Given the description of an element on the screen output the (x, y) to click on. 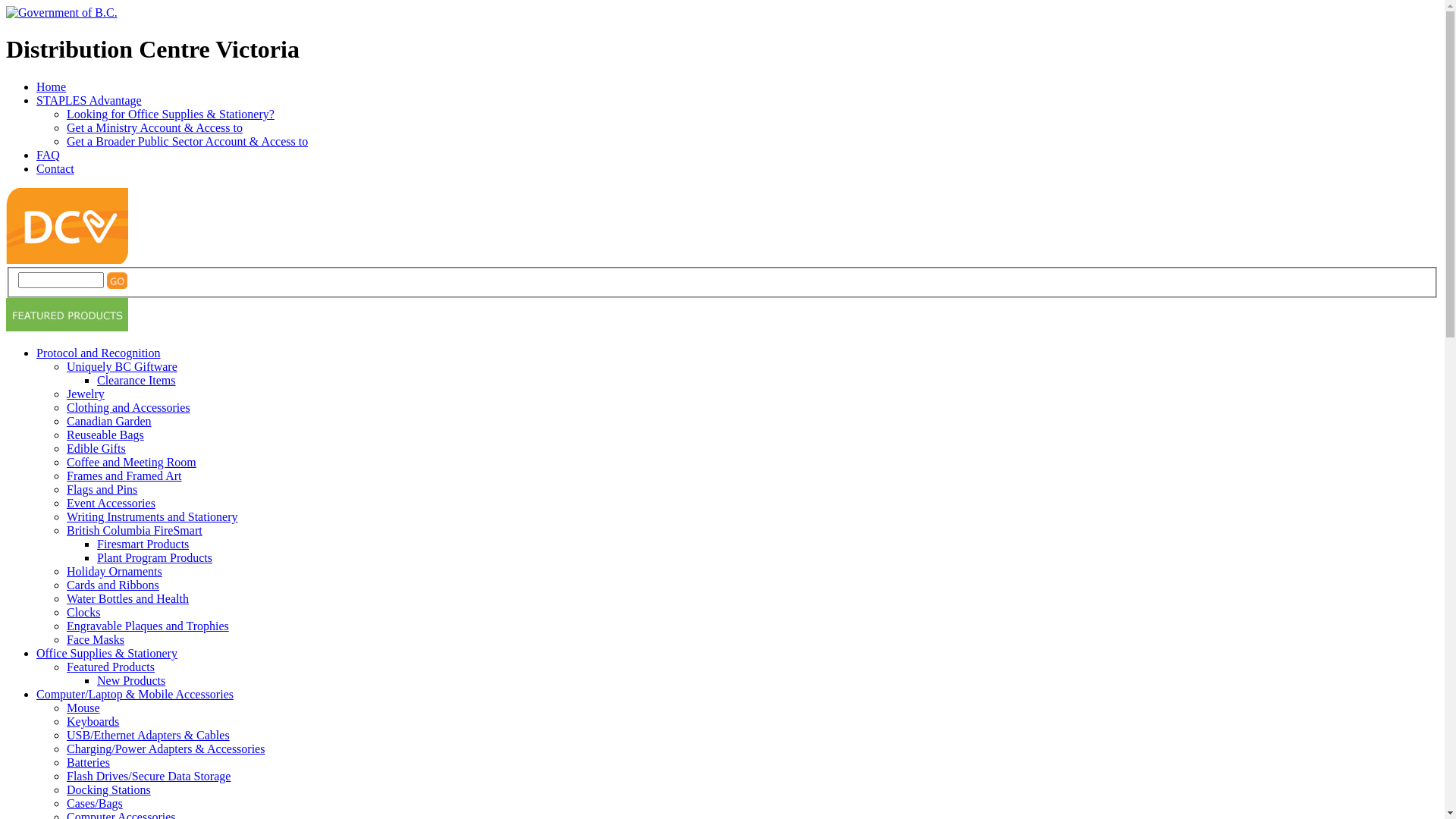
New Products Element type: text (131, 680)
Uniquely BC Giftware Element type: text (121, 366)
Contact Element type: text (55, 168)
Office Supplies & Stationery Element type: text (106, 652)
Batteries Element type: text (87, 762)
Jewelry Element type: text (85, 393)
Engravable Plaques and Trophies Element type: text (147, 625)
British Columbia FireSmart Element type: text (134, 530)
Clocks Element type: text (83, 611)
Edible Gifts Element type: text (95, 448)
Cases/Bags Element type: text (94, 803)
Computer/Laptop & Mobile Accessories Element type: text (134, 693)
Get a Broader Public Sector Account & Access to Element type: text (186, 140)
STAPLES Advantage Element type: text (88, 100)
Event Accessories Element type: text (110, 502)
Water Bottles and Health Element type: text (127, 598)
Plant Program Products Element type: text (154, 557)
DCV Home Element type: hover (67, 259)
Firesmart Products Element type: text (142, 543)
Clearance Items Element type: text (136, 379)
USB/Ethernet Adapters & Cables Element type: text (147, 734)
Looking for Office Supplies & Stationery? Element type: text (170, 113)
Frames and Framed Art Element type: text (124, 475)
Charging/Power Adapters & Accessories Element type: text (165, 748)
FAQ Element type: text (47, 154)
Coffee and Meeting Room Element type: text (131, 461)
Protocol and Recognition Element type: text (98, 352)
Docking Stations Element type: text (108, 789)
Canadian Garden Element type: text (108, 420)
Mouse Element type: text (83, 707)
Face Masks Element type: text (95, 639)
Government of B.C. Element type: hover (61, 12)
Flash Drives/Secure Data Storage Element type: text (148, 775)
Writing Instruments and Stationery Element type: text (152, 516)
Reuseable Bags Element type: text (105, 434)
Flags and Pins Element type: text (101, 489)
Cards and Ribbons Element type: text (112, 584)
Get a Ministry Account & Access to Element type: text (154, 127)
Clothing and Accessories Element type: text (128, 407)
Home Element type: text (50, 86)
Holiday Ornaments Element type: text (114, 570)
Keyboards Element type: text (92, 721)
Featured Products Element type: text (110, 666)
